Given the description of an element on the screen output the (x, y) to click on. 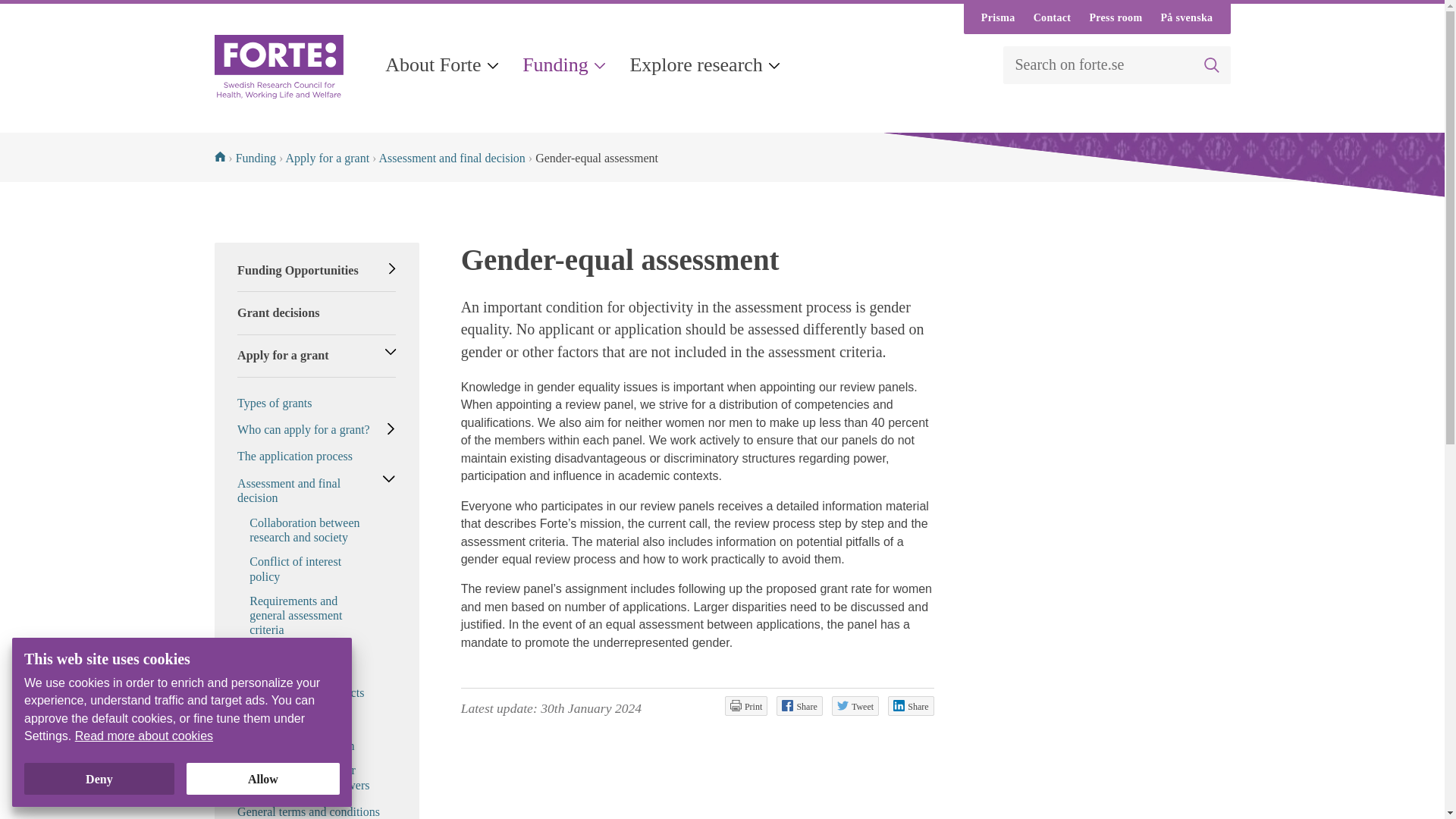
Press room (1115, 19)
Prisma (997, 19)
Contact (1052, 19)
30th January 8:45am (591, 708)
About Forte (442, 64)
